Given the description of an element on the screen output the (x, y) to click on. 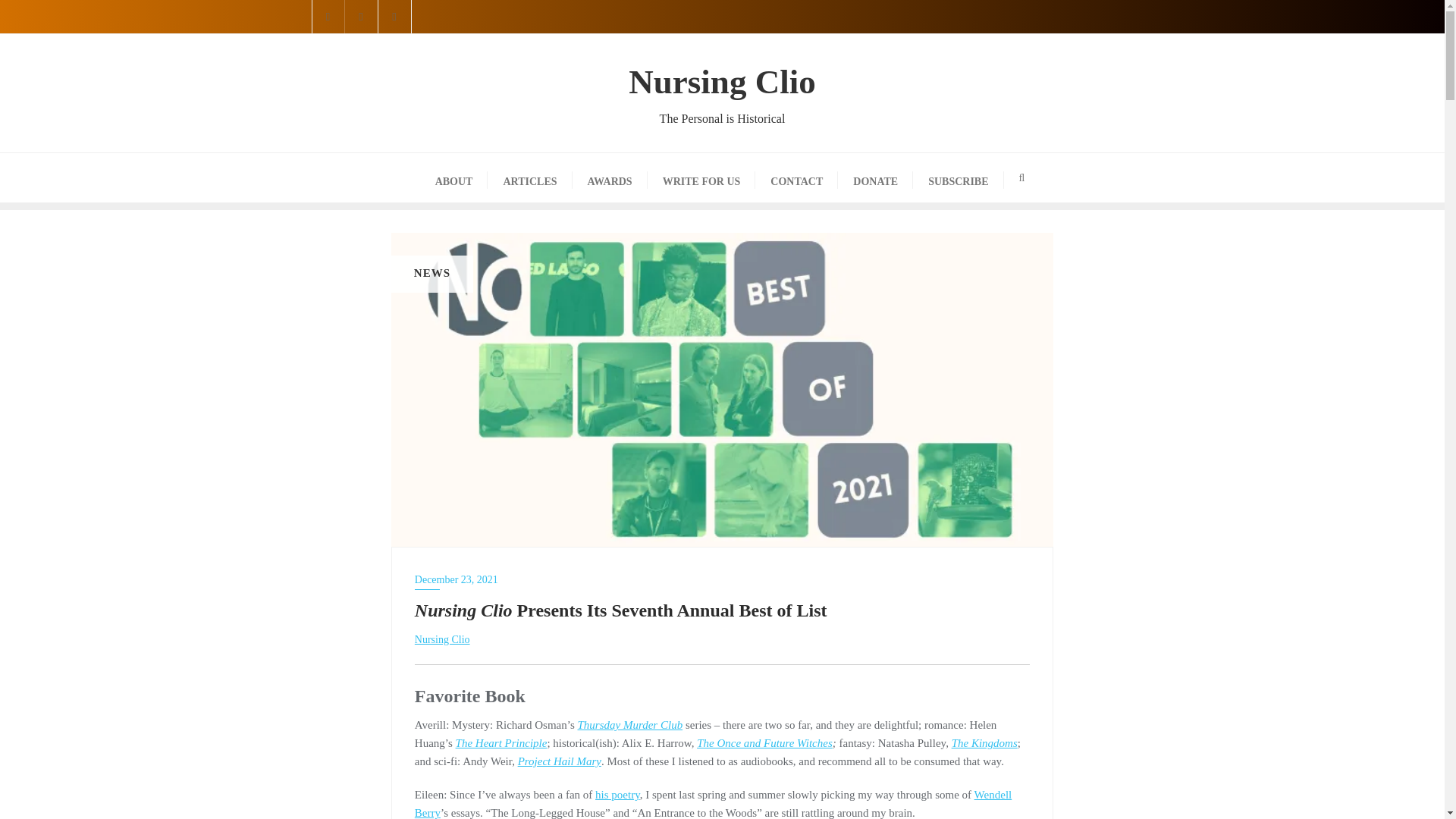
DONATE (875, 177)
The Once and Future Witches (764, 743)
Nursing Clio (442, 639)
The Kingdoms (984, 743)
ABOUT (453, 177)
SUBSCRIBE (957, 177)
his poetry (617, 794)
CONTACT (796, 177)
Thursday Murder Club (630, 725)
The Heart Principle (501, 743)
